Given the description of an element on the screen output the (x, y) to click on. 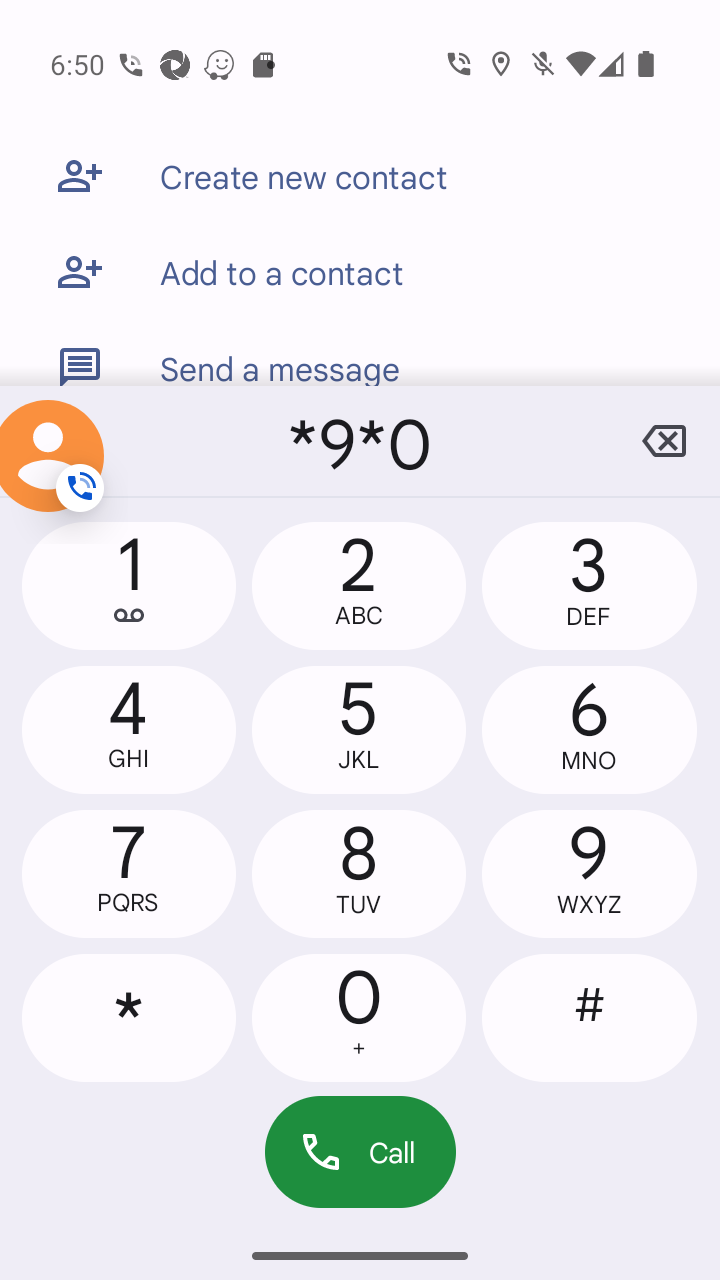
Create new contact (360, 176)
Add to a contact (360, 272)
Send a message (360, 353)
More options (56, 441)
*9*0 (359, 441)
backspace (663, 441)
1, 1 (129, 586)
2,ABC 2 ABC (358, 586)
3,DEF 3 DEF (588, 586)
4,GHI 4 GHI (129, 729)
5,JKL 5 JKL (358, 729)
6,MNO 6 MNO (588, 729)
7,PQRS 7 PQRS (129, 874)
8,TUV 8 TUV (358, 874)
9,WXYZ 9 WXYZ (588, 874)
* (129, 1017)
0 0 + (358, 1017)
# (588, 1017)
Call dial (359, 1151)
